Given the description of an element on the screen output the (x, y) to click on. 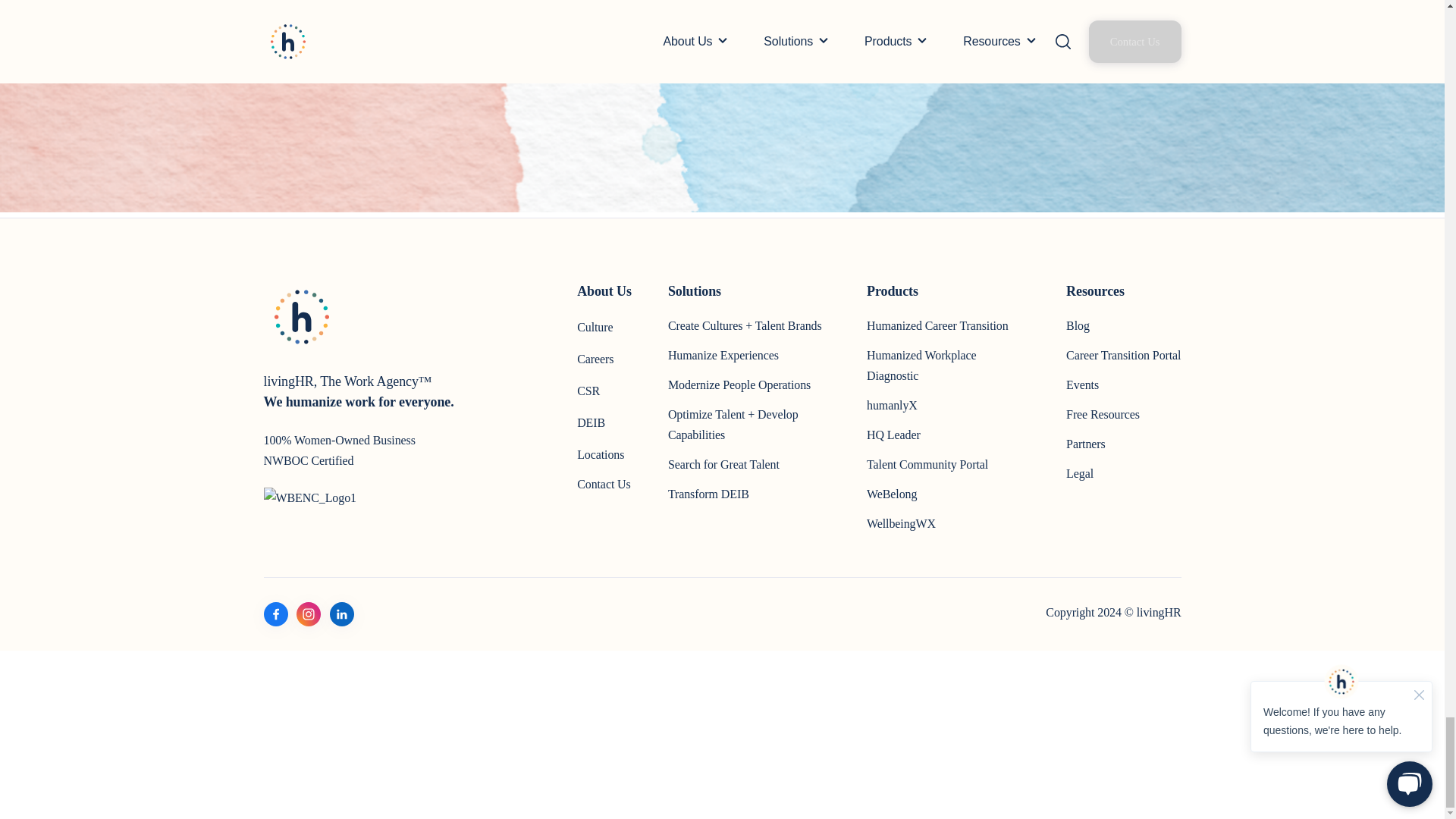
livingHR (301, 316)
